Given the description of an element on the screen output the (x, y) to click on. 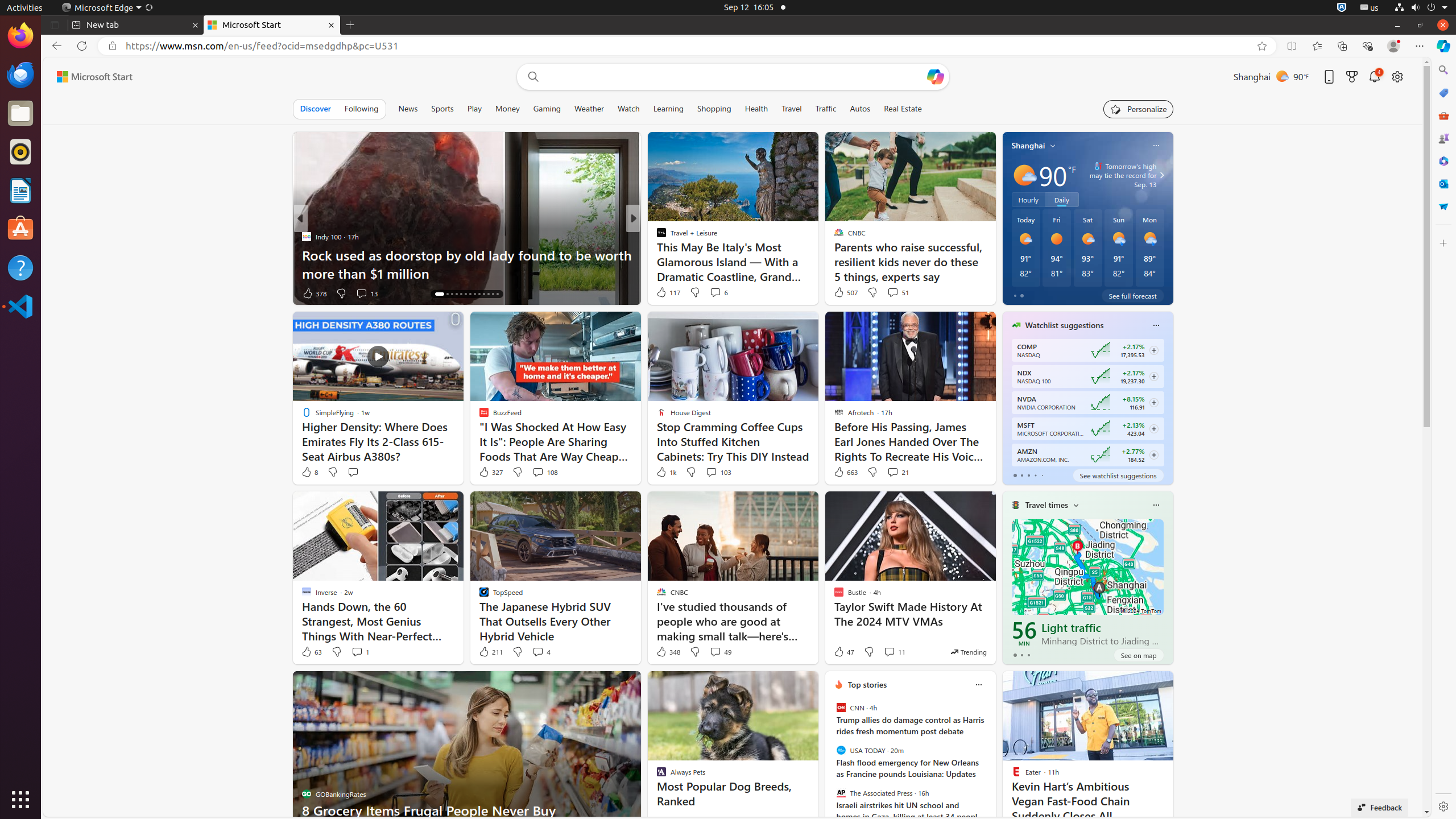
Microsoft rewards Element type: push-button (1351, 76)
Thunderbird Mail Element type: push-button (20, 74)
View comments 4 Comment Element type: push-button (537, 651)
Your Privacy Choices Element type: link (1001, 809)
View comments 108 Comment Element type: push-button (537, 471)
